Given the description of an element on the screen output the (x, y) to click on. 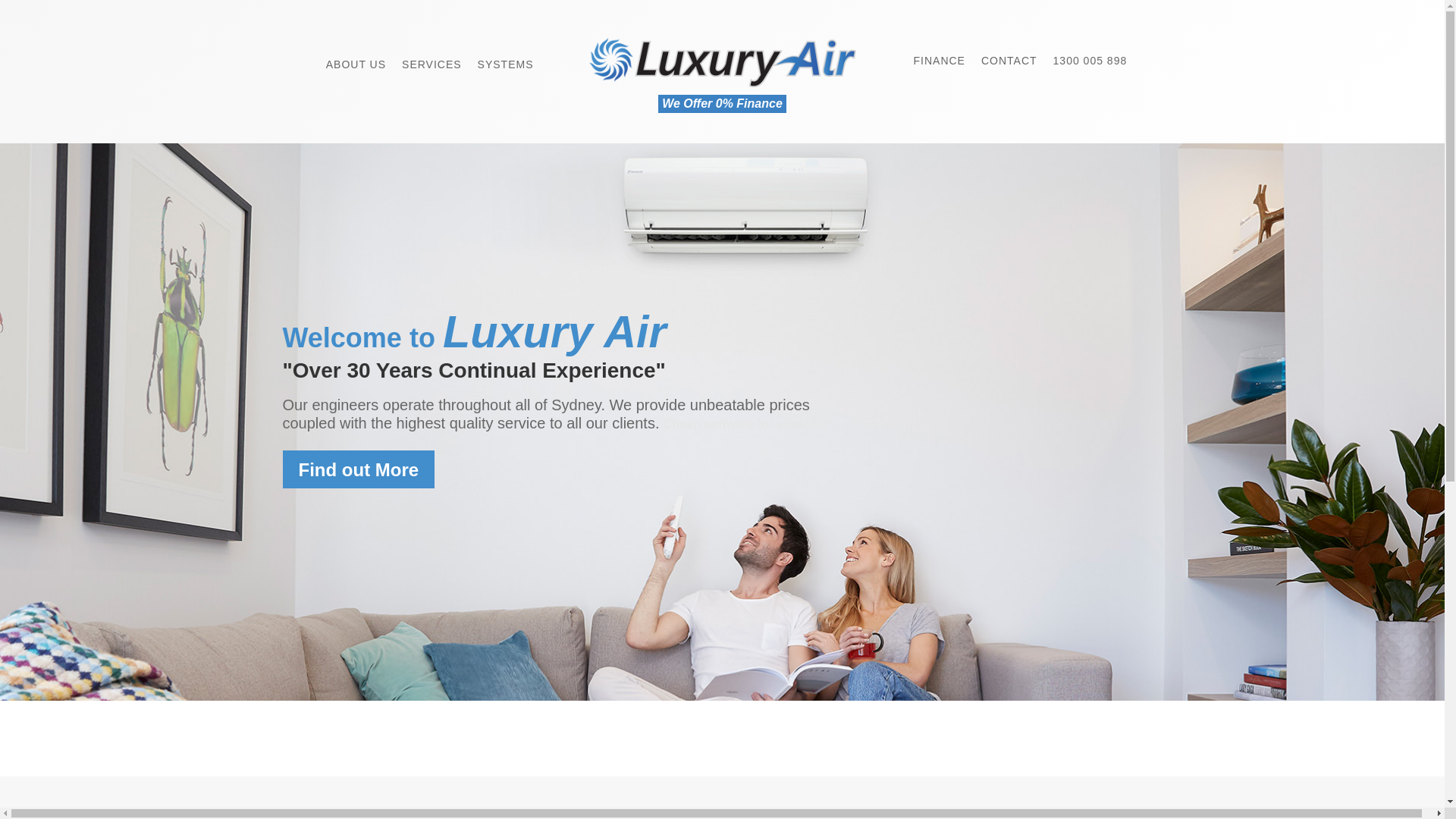
SERVICES Element type: text (431, 56)
ABOUT US Element type: text (355, 56)
Cheap software for students Element type: text (745, 423)
Home Element type: hover (308, 52)
Find out More Element type: text (358, 469)
CONTACT Element type: text (1009, 60)
1300 005 898 Element type: text (1090, 60)
FINANCE Element type: text (939, 60)
SYSTEMS Element type: text (505, 56)
